Given the description of an element on the screen output the (x, y) to click on. 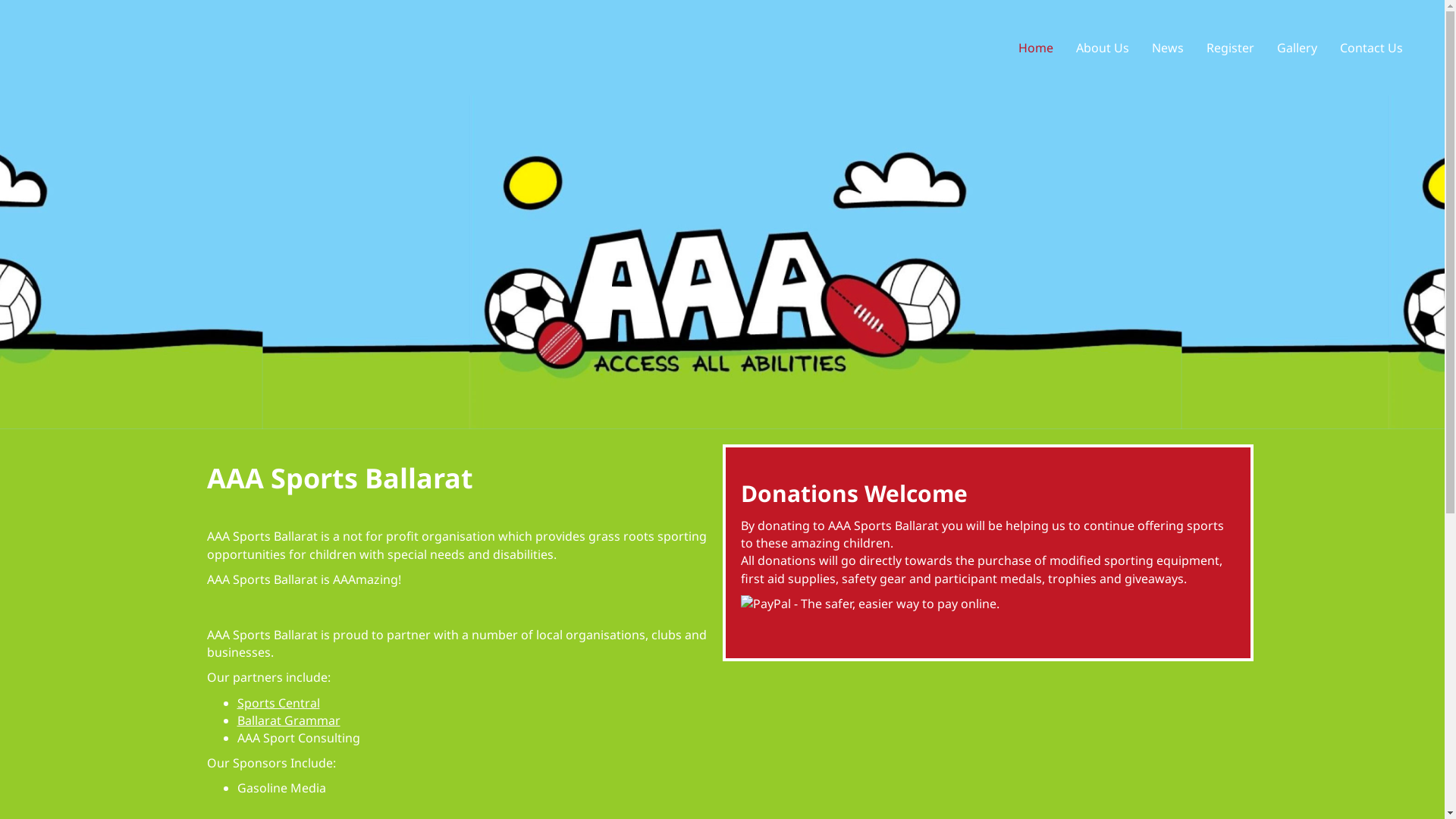
Sports Central Element type: text (277, 702)
Gallery Element type: text (1296, 47)
About Us Element type: text (1102, 47)
Register Element type: text (1229, 47)
Ballarat Grammar Element type: text (287, 720)
Home Element type: text (1035, 47)
News Element type: text (1167, 47)
Contact Us Element type: text (1371, 47)
